Given the description of an element on the screen output the (x, y) to click on. 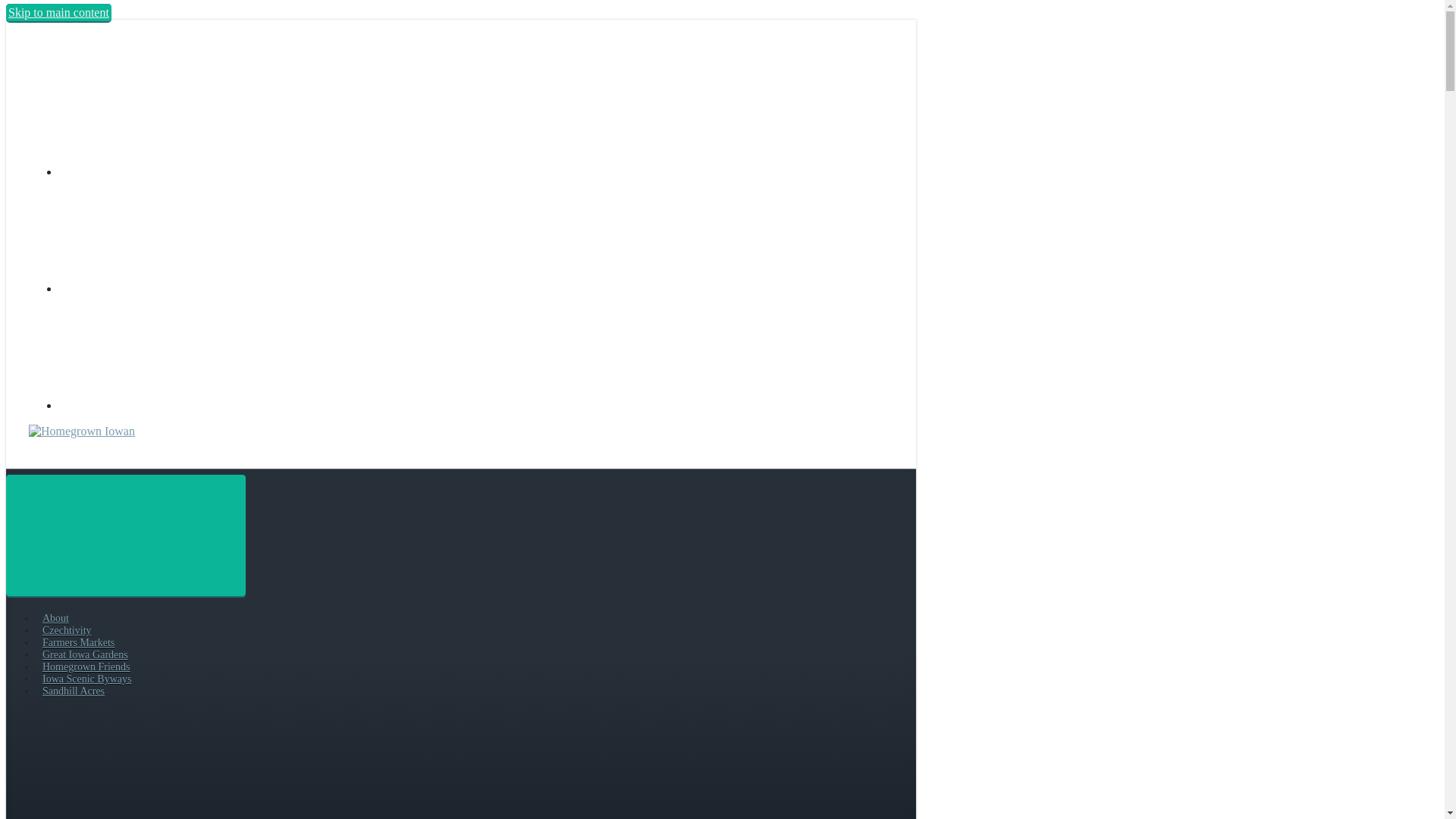
Twitter (172, 404)
RSS Feed (172, 171)
About (55, 618)
Czechtivity (66, 630)
Homegrown Friends (86, 666)
Iowa Scenic Byways (86, 678)
Great Iowa Gardens (85, 654)
Sandhill Acres (73, 690)
Farmers Markets (78, 642)
Facebook (172, 287)
Skip to main content (58, 12)
